Given the description of an element on the screen output the (x, y) to click on. 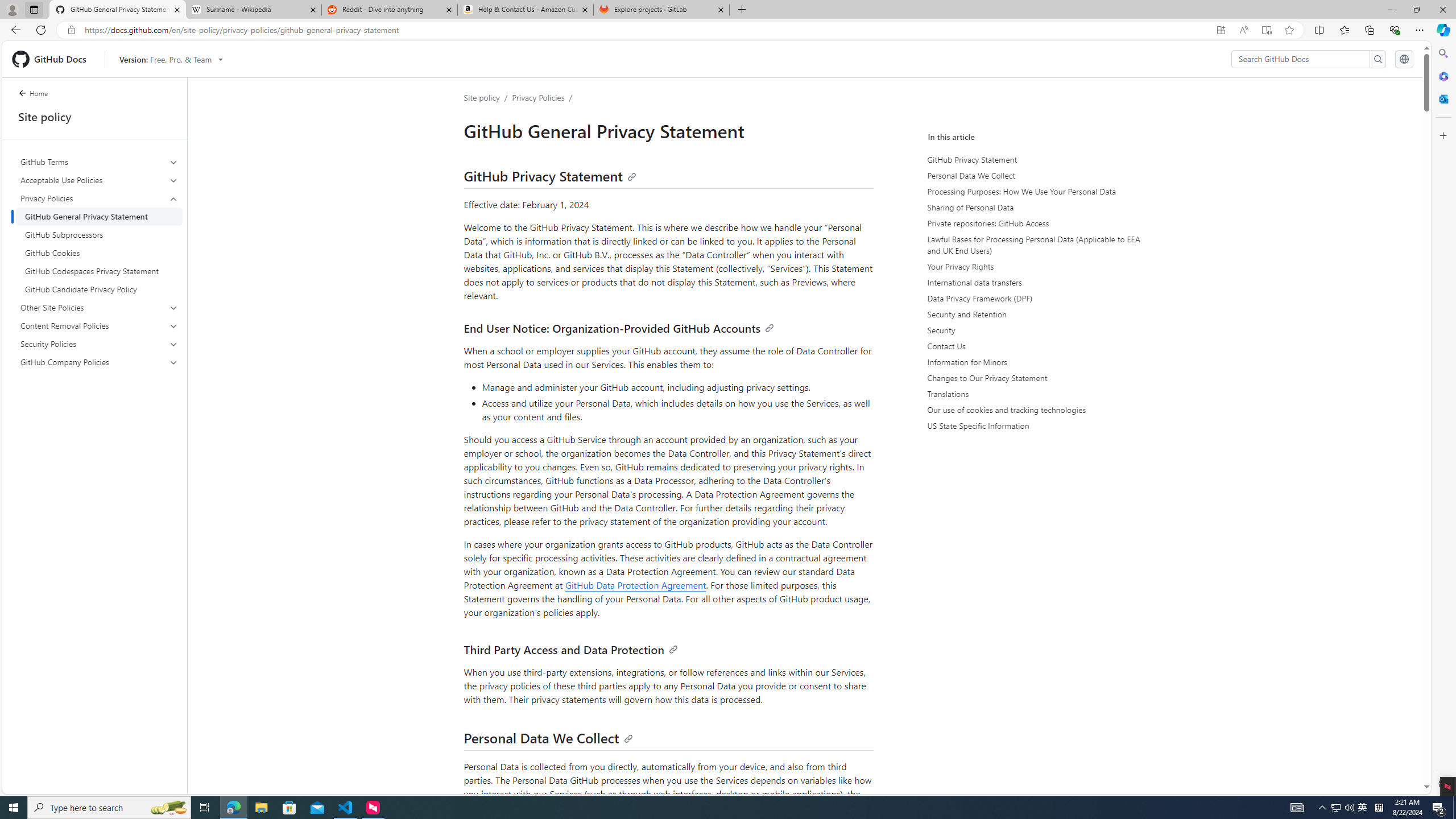
Other Site Policies (99, 307)
Privacy Policies (99, 243)
End User Notice: Organization-Provided GitHub Accounts (618, 327)
Personal Data We Collect (548, 737)
GitHub Subprocessors (99, 235)
Our use of cookies and tracking technologies (1034, 409)
Processing Purposes: How We Use Your Personal Data (1032, 191)
Your Privacy Rights (1032, 266)
Information for Minors (1032, 362)
GitHub Codespaces Privacy Statement (99, 271)
Information for Minors (1034, 362)
